Given the description of an element on the screen output the (x, y) to click on. 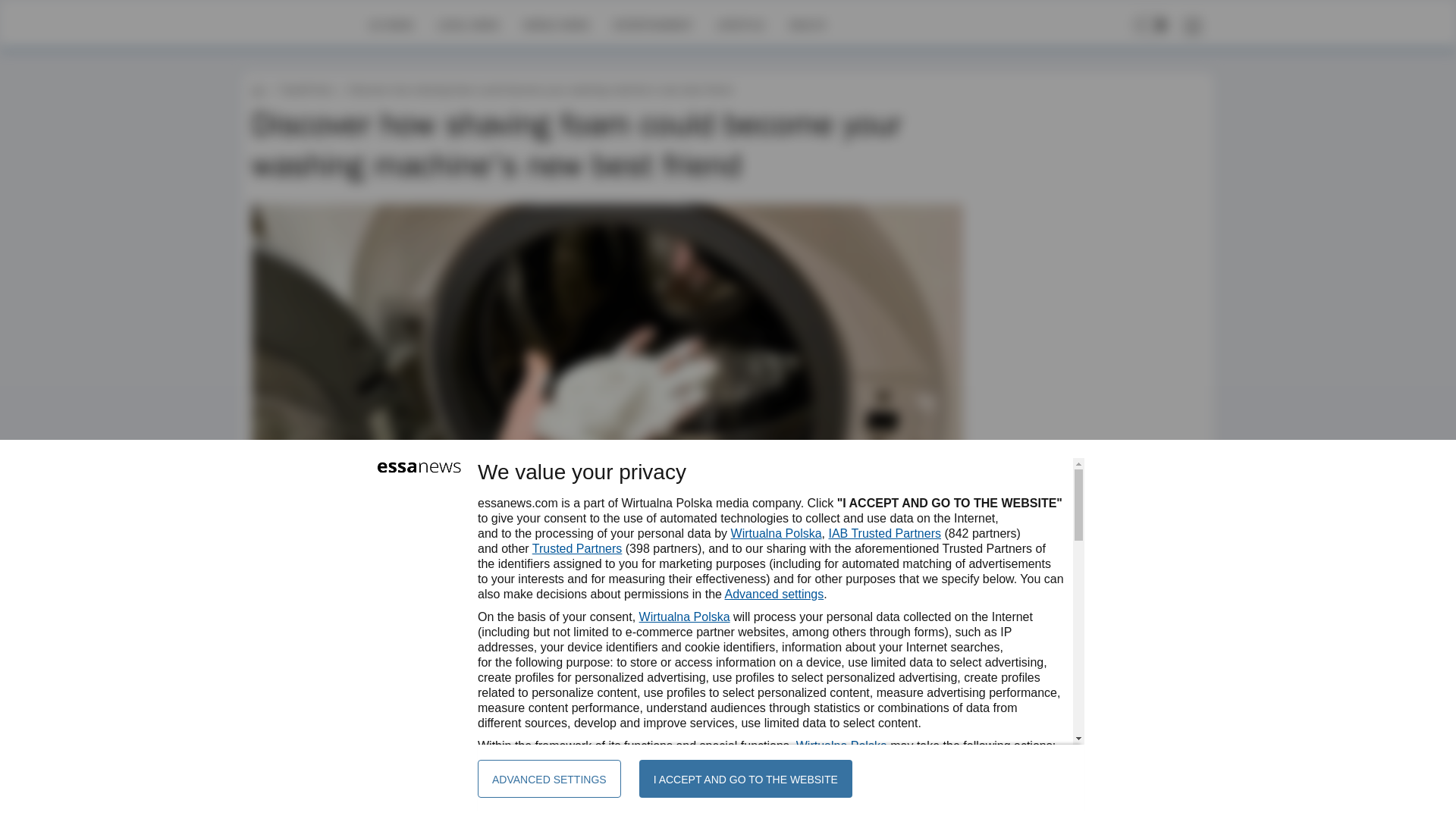
LIFESTYLE (740, 24)
ALB (298, 641)
Homepage (305, 24)
HEALTH (807, 24)
US NEWS (390, 24)
essanews.com (257, 89)
LOCAL NEWS (468, 24)
WORLD NEWS (555, 24)
ENTERTAINMENT (652, 24)
SHARE (936, 649)
ALB (298, 641)
